Given the description of an element on the screen output the (x, y) to click on. 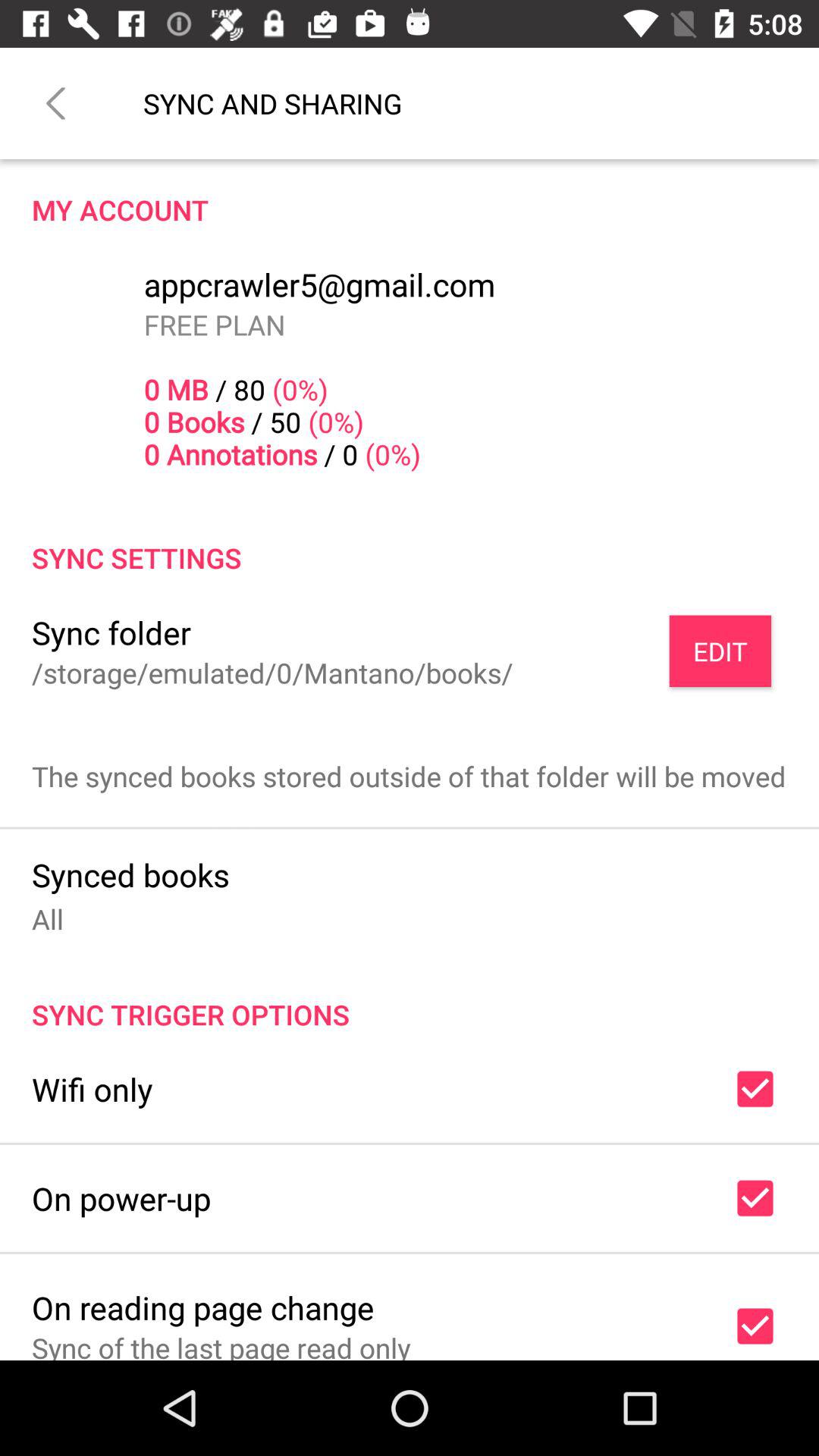
choose the item next to sync and sharing item (55, 103)
